Given the description of an element on the screen output the (x, y) to click on. 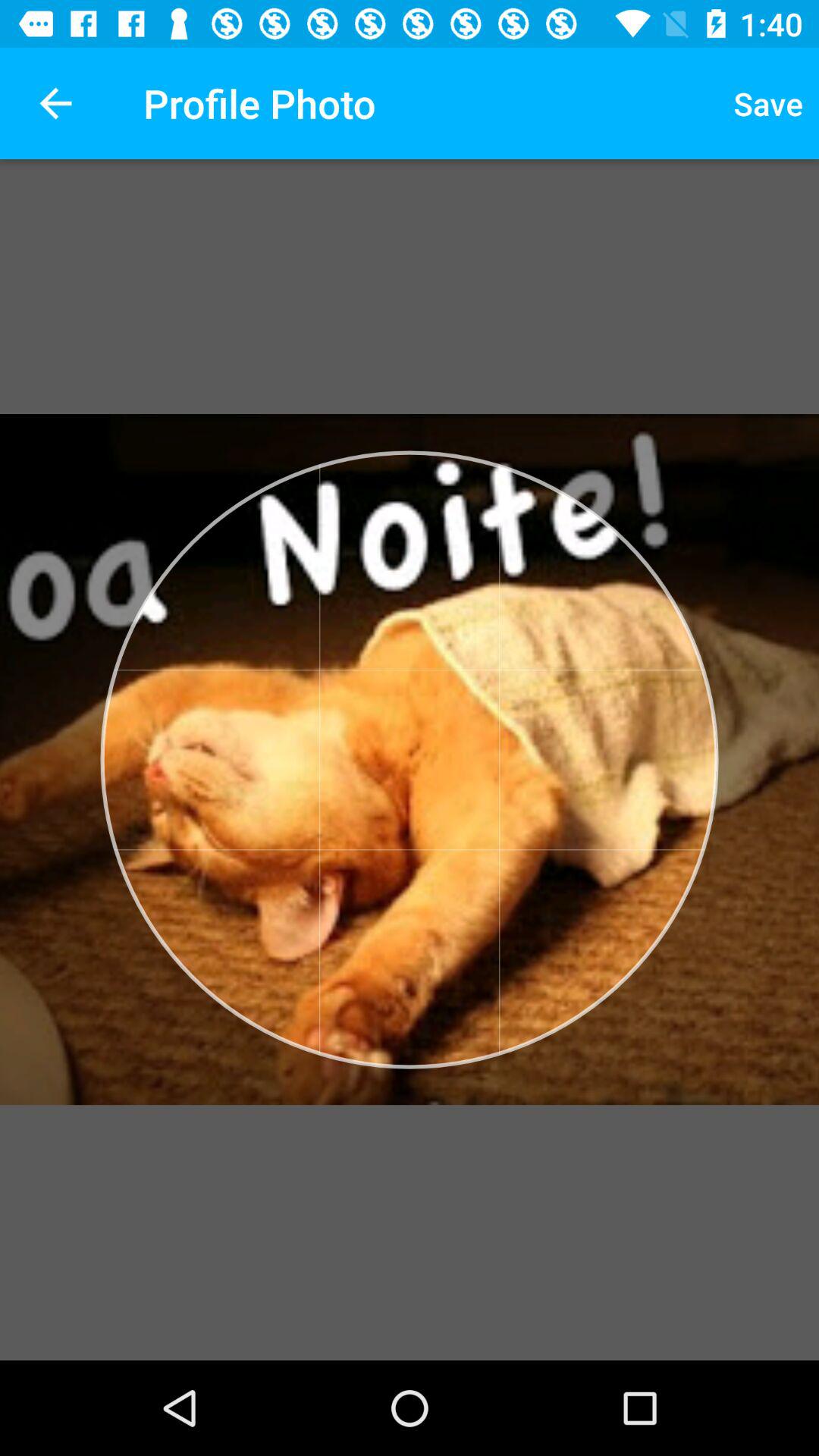
select the item to the left of profile photo (55, 103)
